Given the description of an element on the screen output the (x, y) to click on. 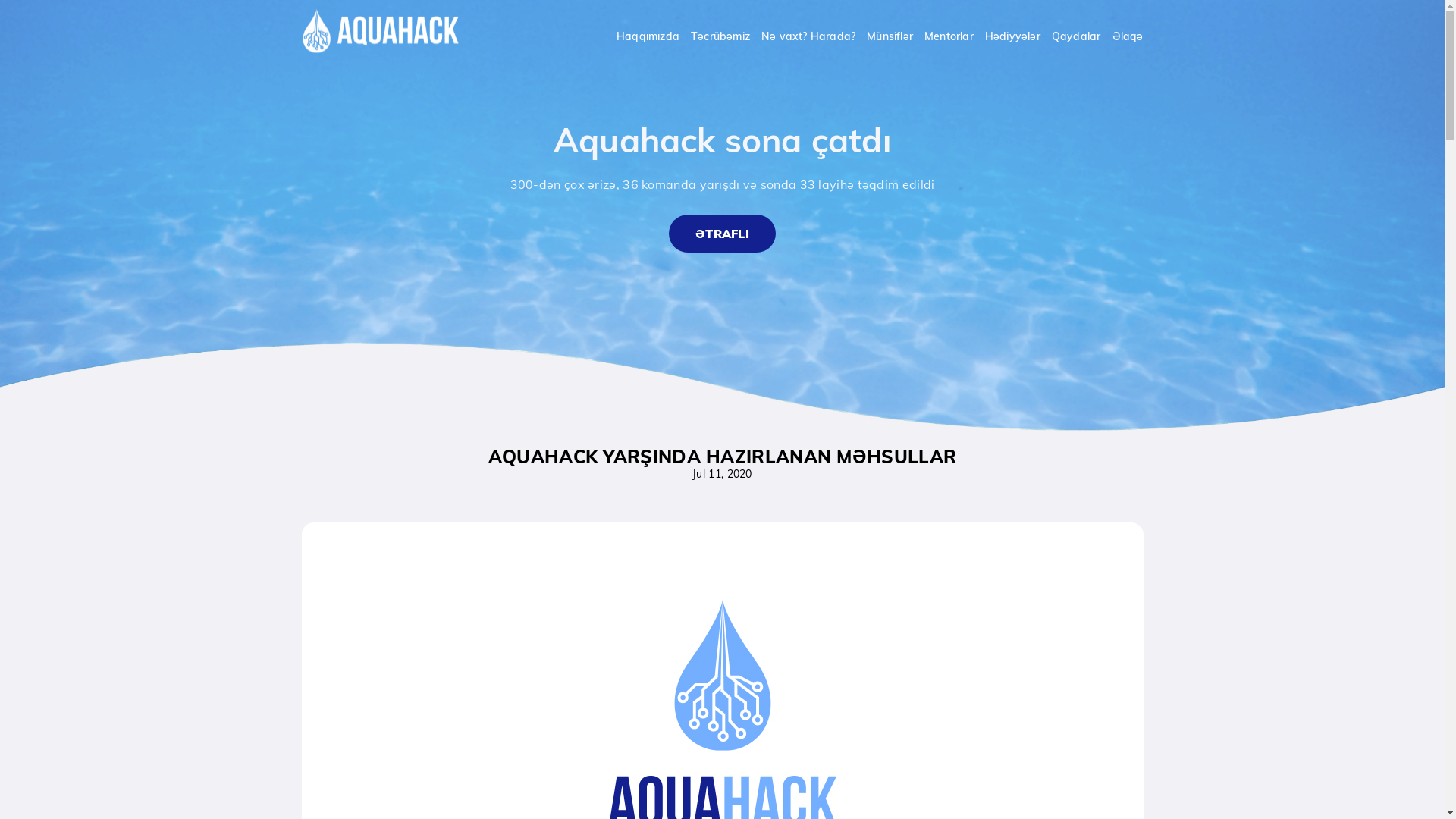
AquaHack Element type: hover (380, 30)
Qaydalar Element type: text (1076, 36)
Mentorlar Element type: text (948, 36)
